Given the description of an element on the screen output the (x, y) to click on. 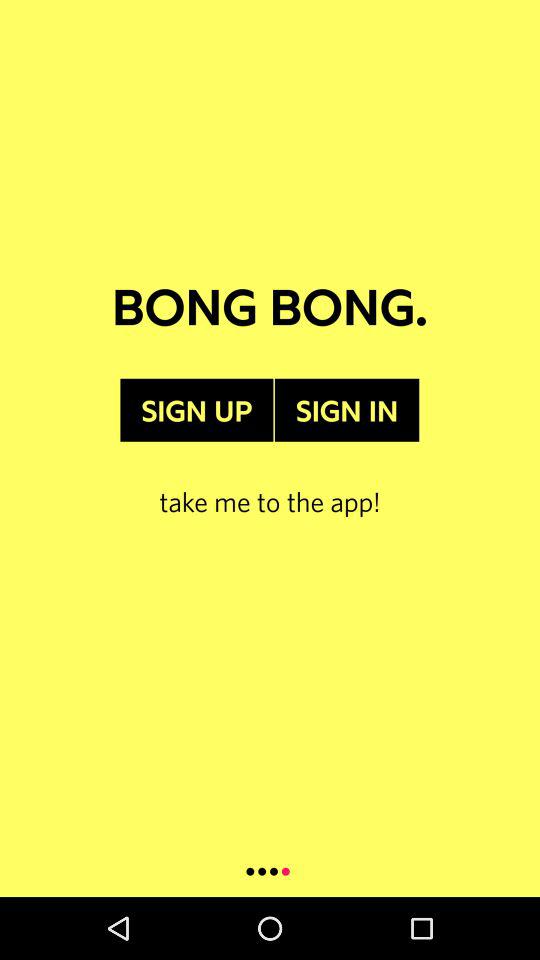
click sign up item (196, 409)
